Given the description of an element on the screen output the (x, y) to click on. 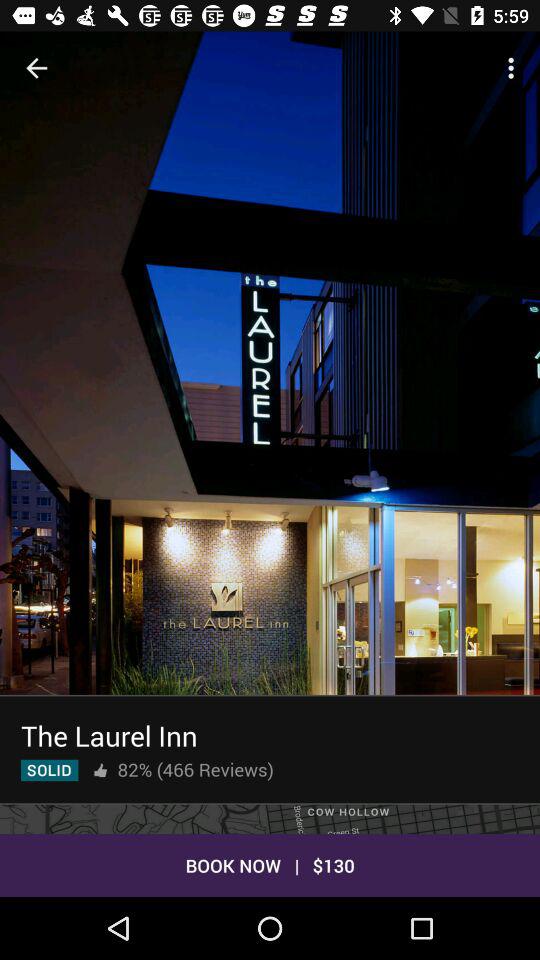
tap the item above book now   |   $130 item (270, 818)
